Given the description of an element on the screen output the (x, y) to click on. 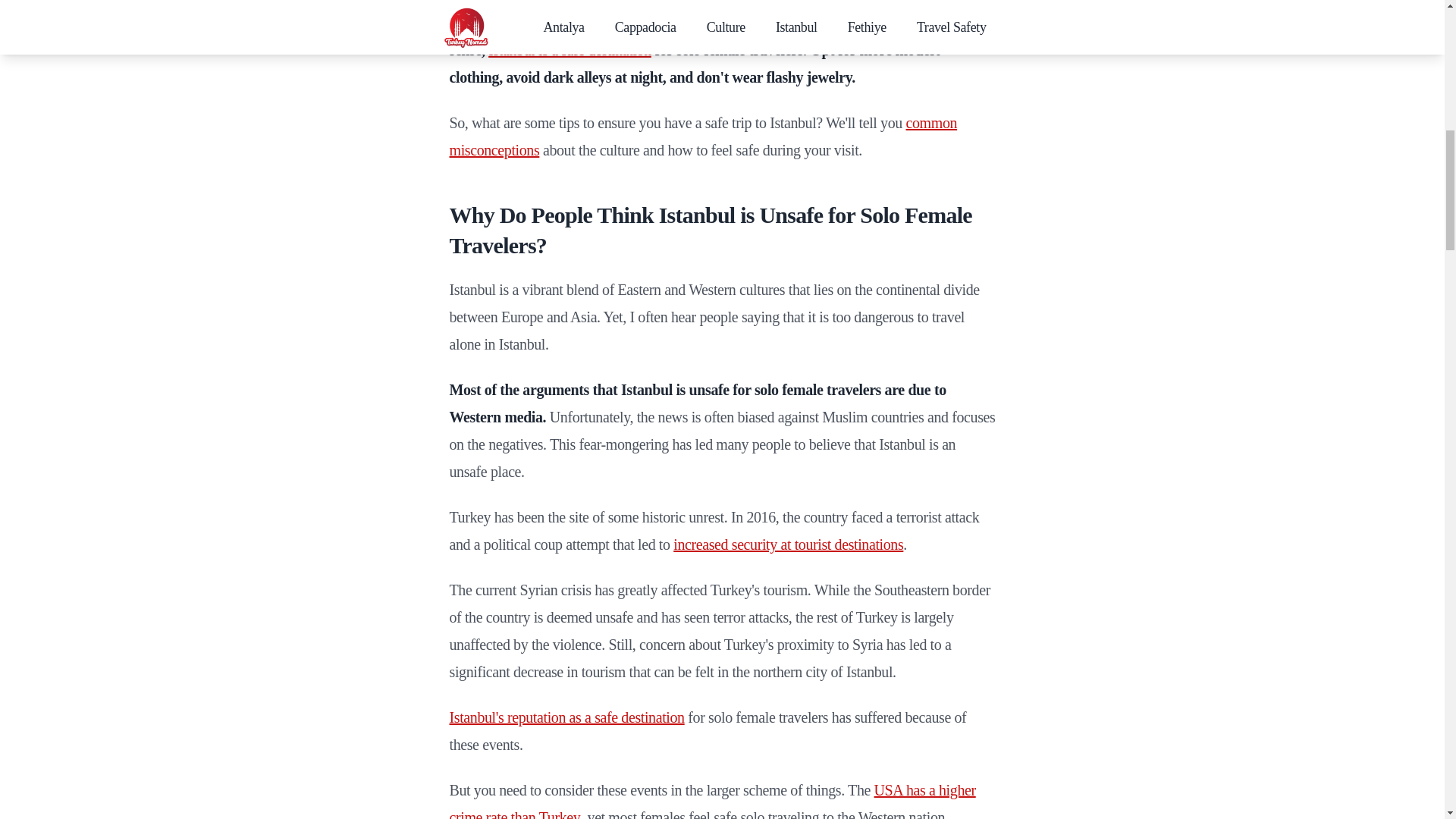
is Istanbul safe (514, 22)
common misconceptions (702, 136)
Istanbul's reputation as a safe destination (566, 717)
learn the local culture (813, 22)
USA has a higher crime rate than Turkey (711, 800)
increased security at tourist destinations (787, 544)
Istanbul is a safe destination (568, 49)
